Given the description of an element on the screen output the (x, y) to click on. 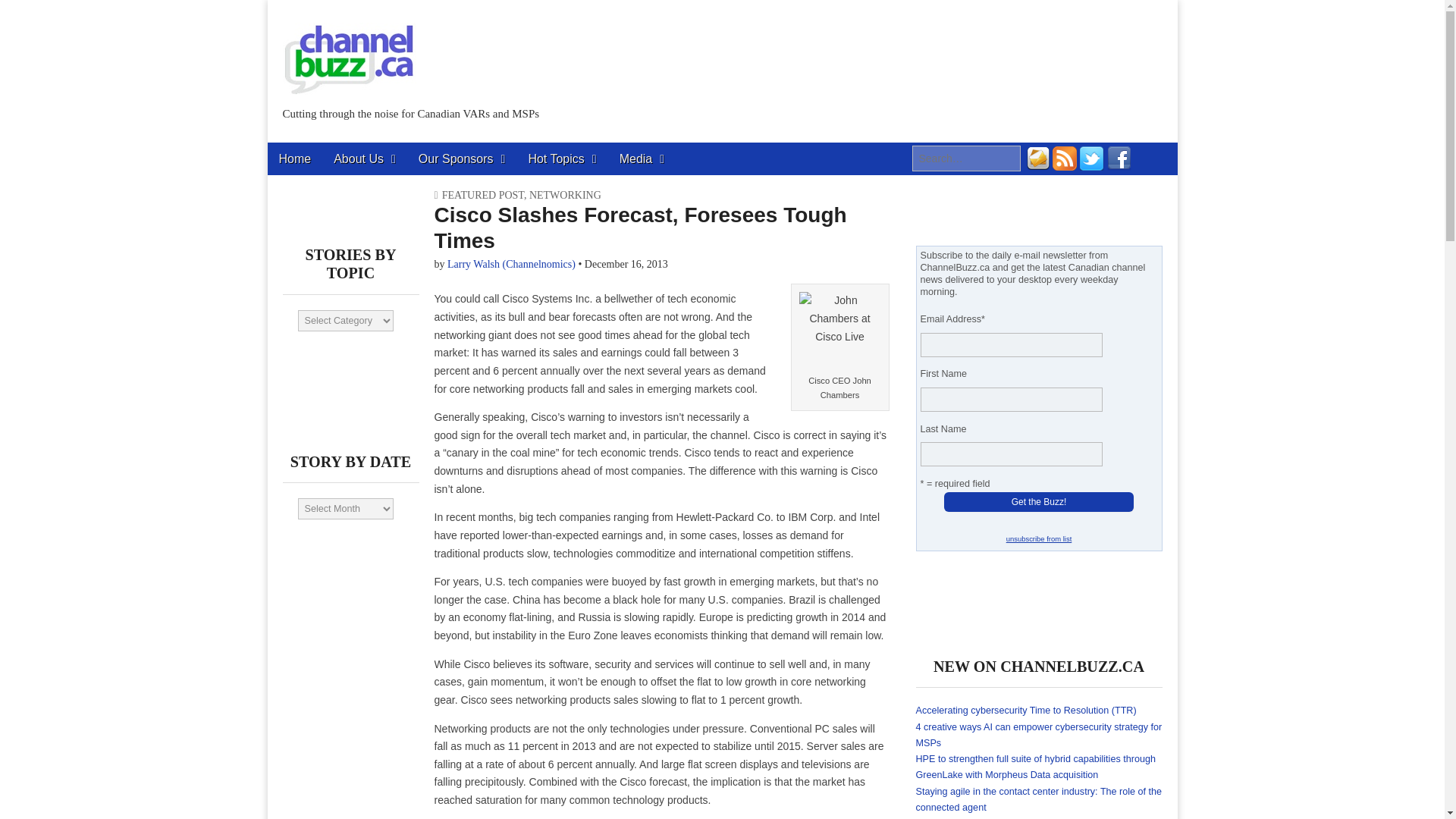
ChannelBuzz.ca (348, 50)
Get the Buzz! (1038, 501)
Home (293, 158)
Connect with ChannelBuzz.ca on Facebook (1118, 166)
Media (641, 158)
Subscribe to the ChannelBuzz.ca Daily Buzz e-mail newsletter (1037, 166)
ChannelBuzz.ca (400, 148)
Subscribe to our RSS feed (1064, 166)
Follow ChannelBuzz.ca on Twitter (1091, 166)
Hot Topics (561, 158)
